Given the description of an element on the screen output the (x, y) to click on. 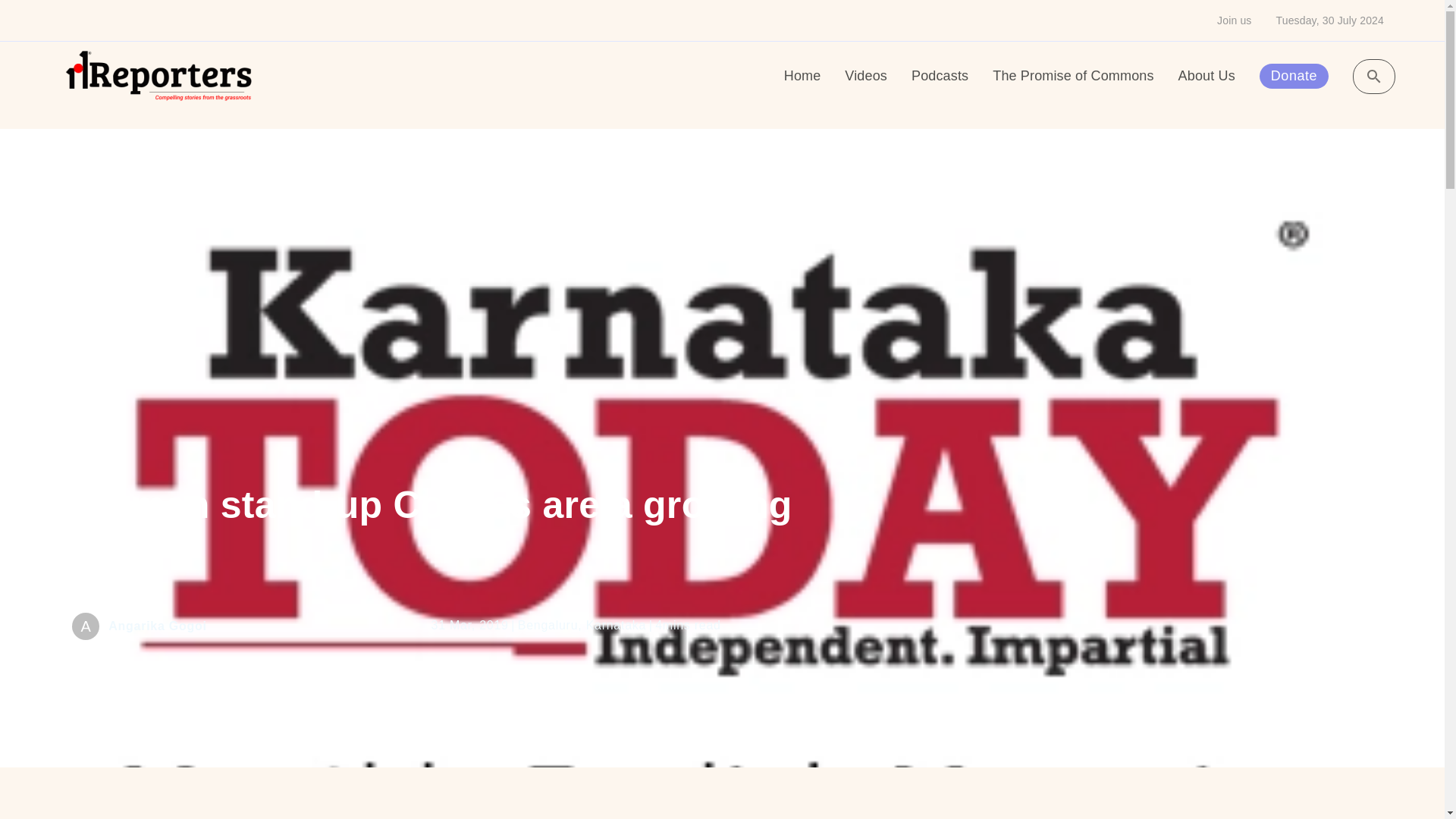
Join us (1233, 20)
The Promise of Commons (1072, 75)
About Us (1205, 75)
Videos (865, 75)
Podcasts (939, 75)
Donate (1293, 76)
Home (802, 75)
